Given the description of an element on the screen output the (x, y) to click on. 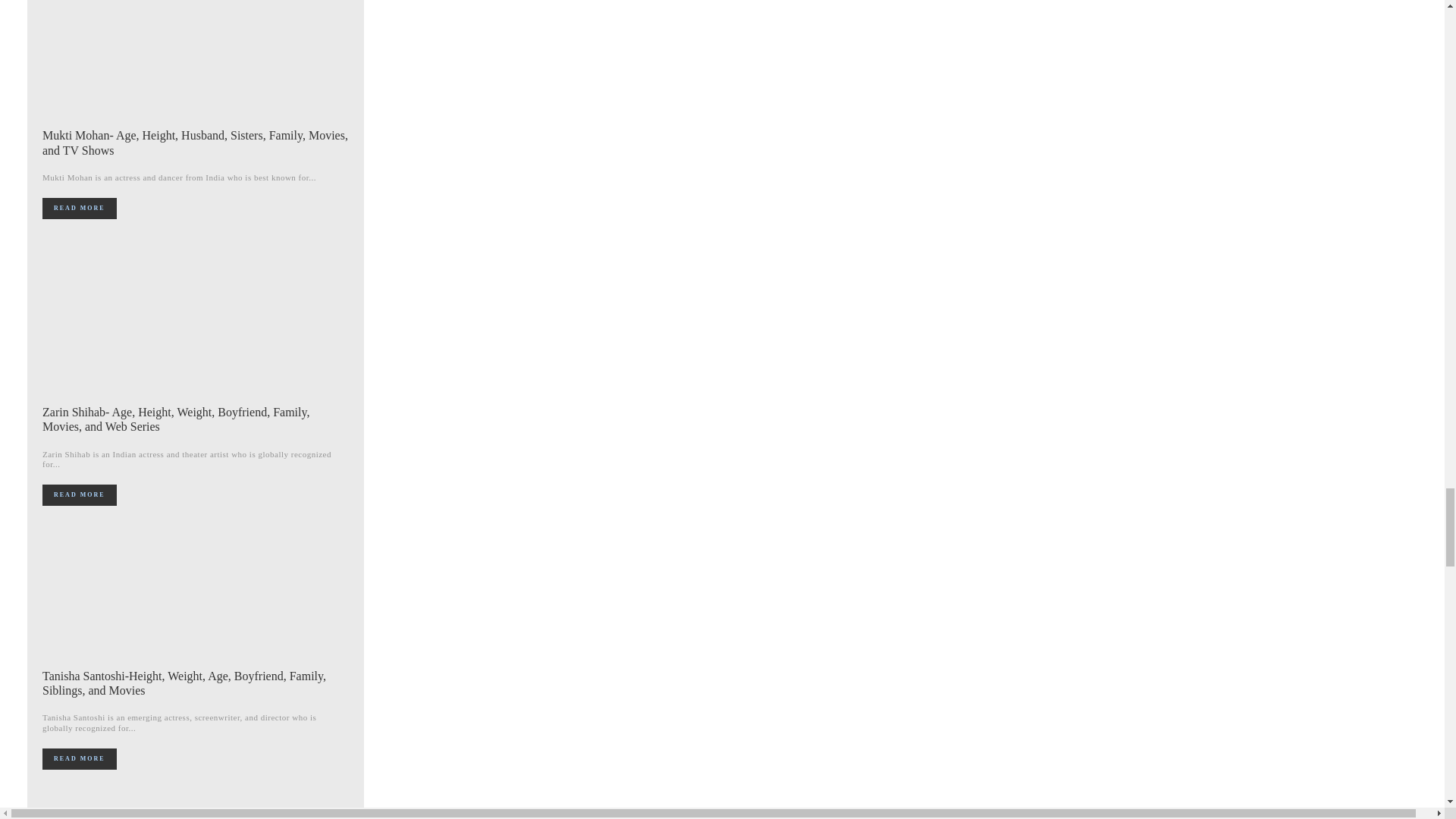
Read more (79, 208)
